Given the description of an element on the screen output the (x, y) to click on. 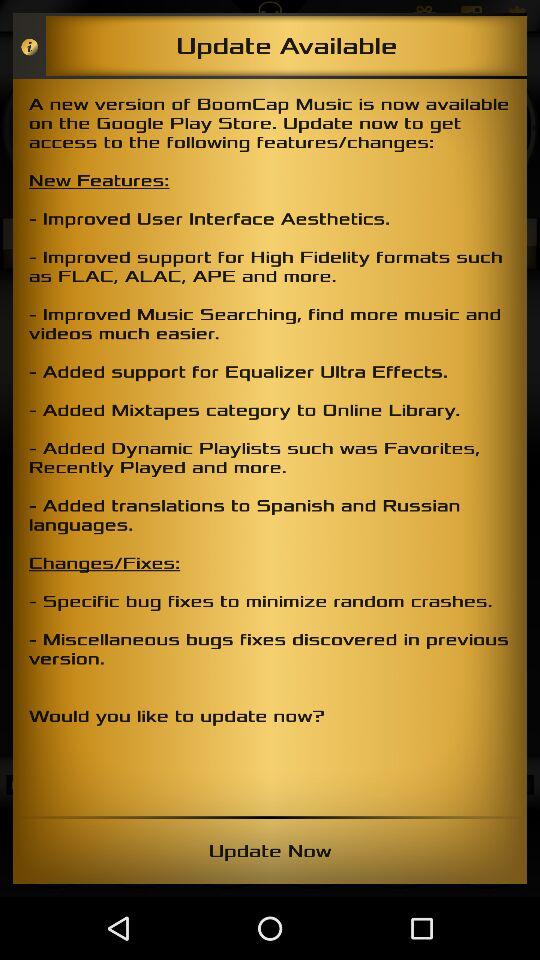
flip until the a new version icon (269, 447)
